Given the description of an element on the screen output the (x, y) to click on. 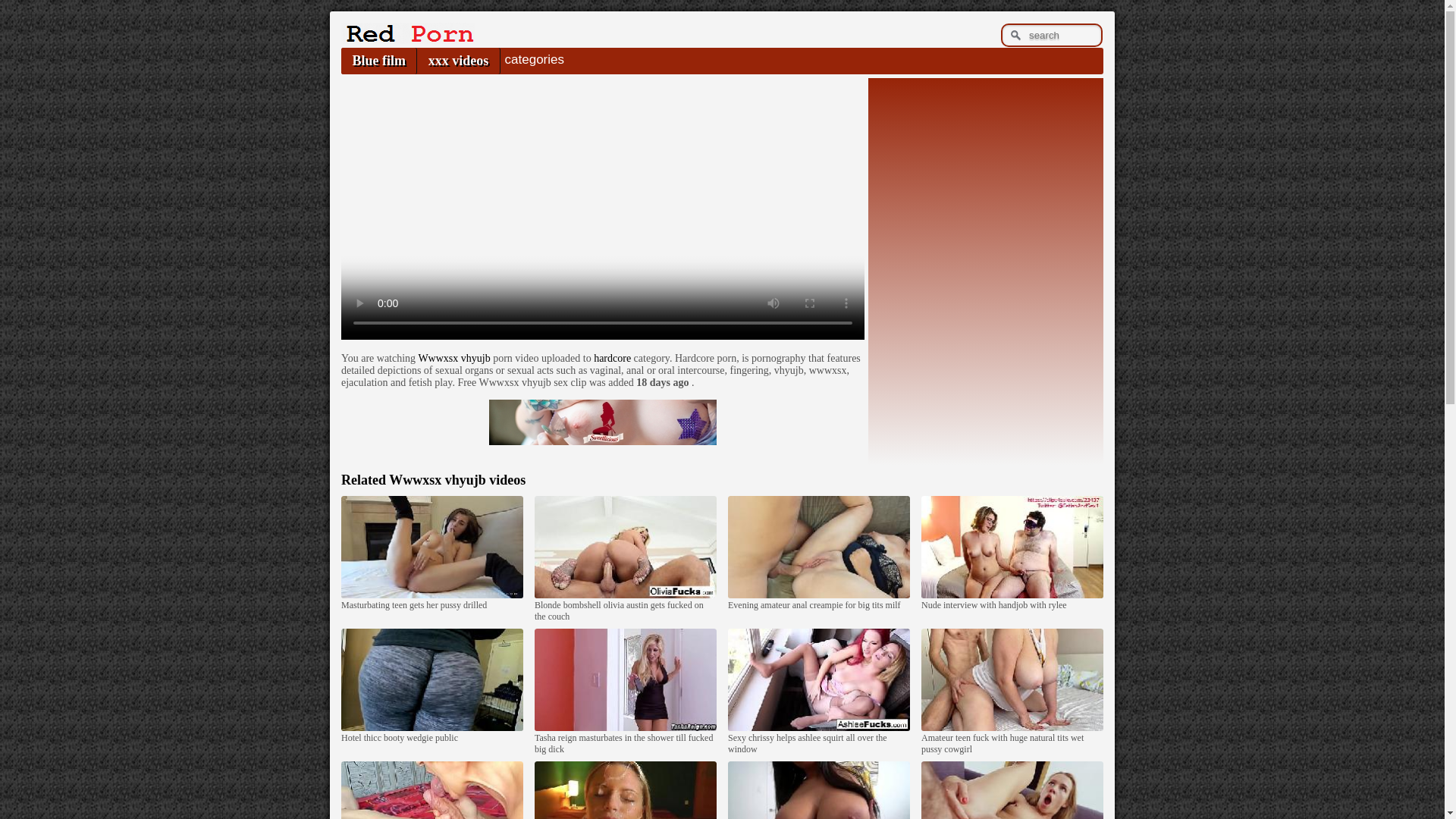
Blue film (378, 60)
xxx videos (457, 60)
Blue film (378, 60)
hardcore (612, 357)
xxx videos (457, 60)
Wwwxsx vhyujb (453, 357)
categories (533, 59)
Wwwxsx vhyujb videos (456, 479)
Indian Porn (407, 39)
